Given the description of an element on the screen output the (x, y) to click on. 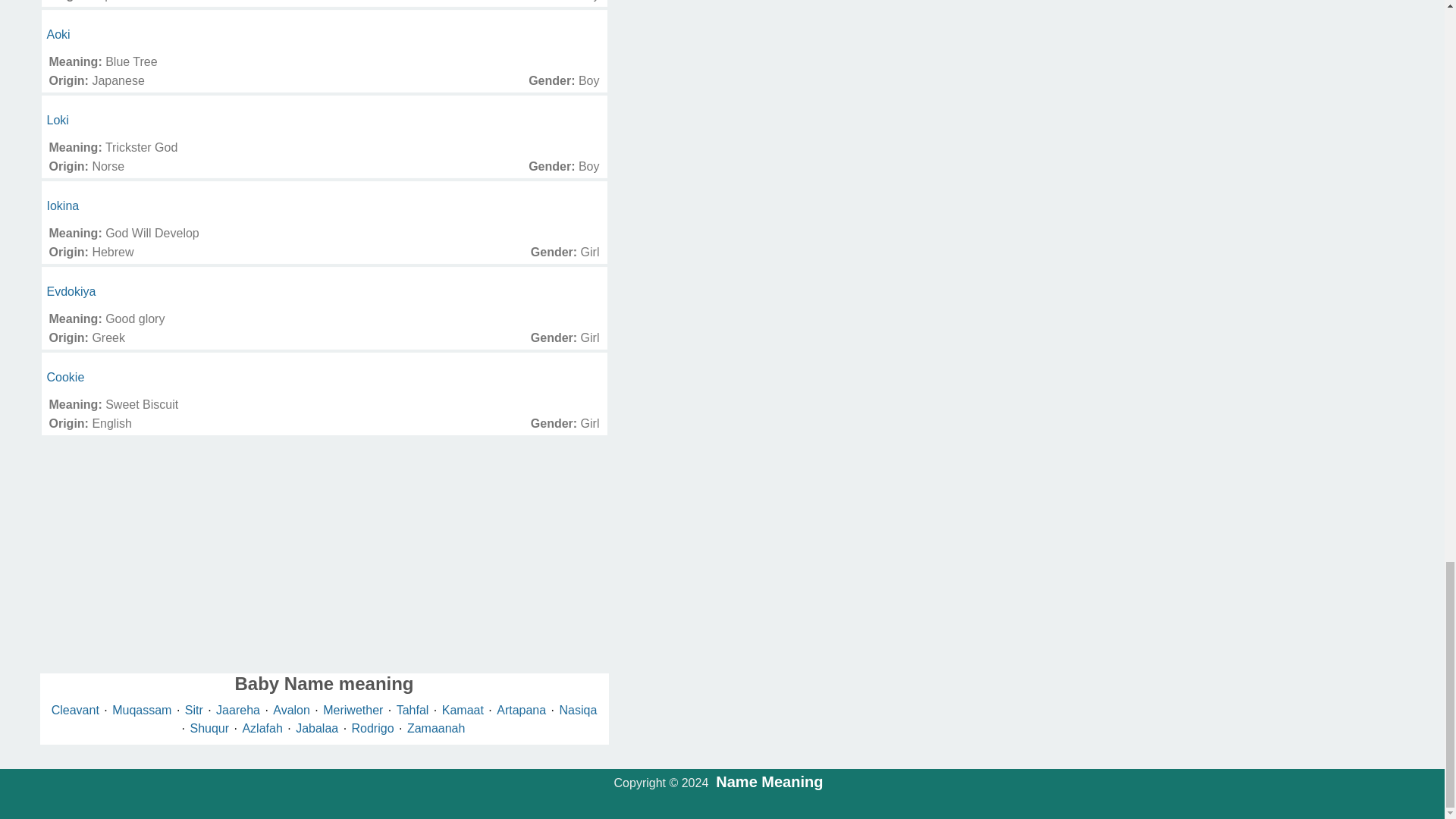
Zamaanah (436, 727)
Cookie (65, 377)
Avalon (293, 709)
Sitr (195, 709)
Cleavant (76, 709)
Aoki (57, 33)
Iokina (63, 205)
Jaareha (239, 709)
Name Meaning (768, 781)
Kamaat (464, 709)
